Given the description of an element on the screen output the (x, y) to click on. 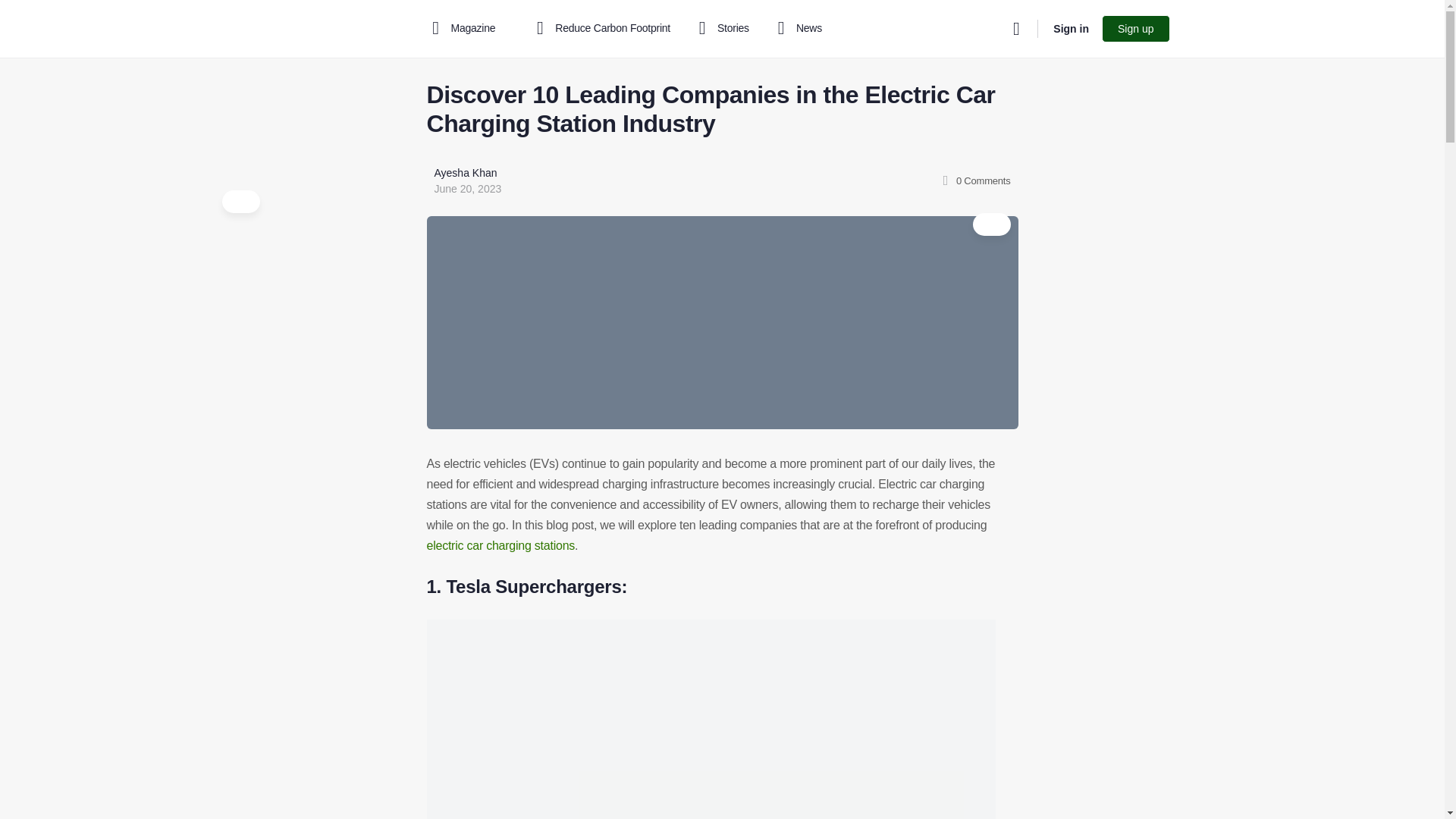
Sign up (1135, 28)
Stories (721, 28)
Ayesha Khan (464, 173)
News (796, 28)
Magazine (467, 28)
0 Comments (974, 180)
electric car charging stations (500, 545)
June 20, 2023 (466, 188)
Sign in (1070, 28)
Reduce Carbon Footprint (600, 28)
